Given the description of an element on the screen output the (x, y) to click on. 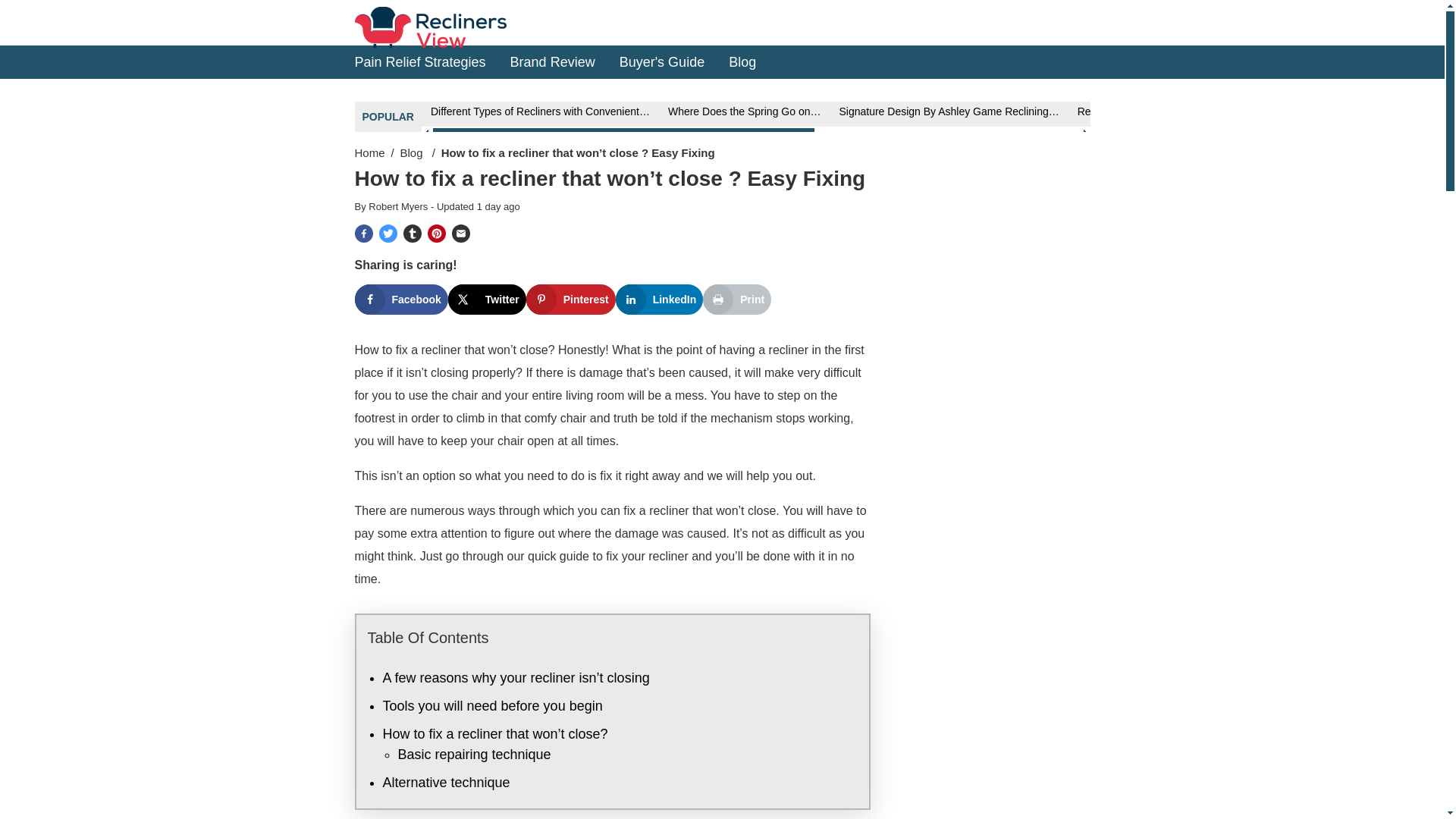
Alternative technique (445, 782)
Share on X (486, 299)
LinkedIn (659, 299)
Tools you will need before you begin (491, 705)
Pinterest (570, 299)
Save to Pinterest (570, 299)
Pain Relief Strategies (420, 61)
Blog (413, 152)
Brand Review (553, 61)
Twitter (486, 299)
